Given the description of an element on the screen output the (x, y) to click on. 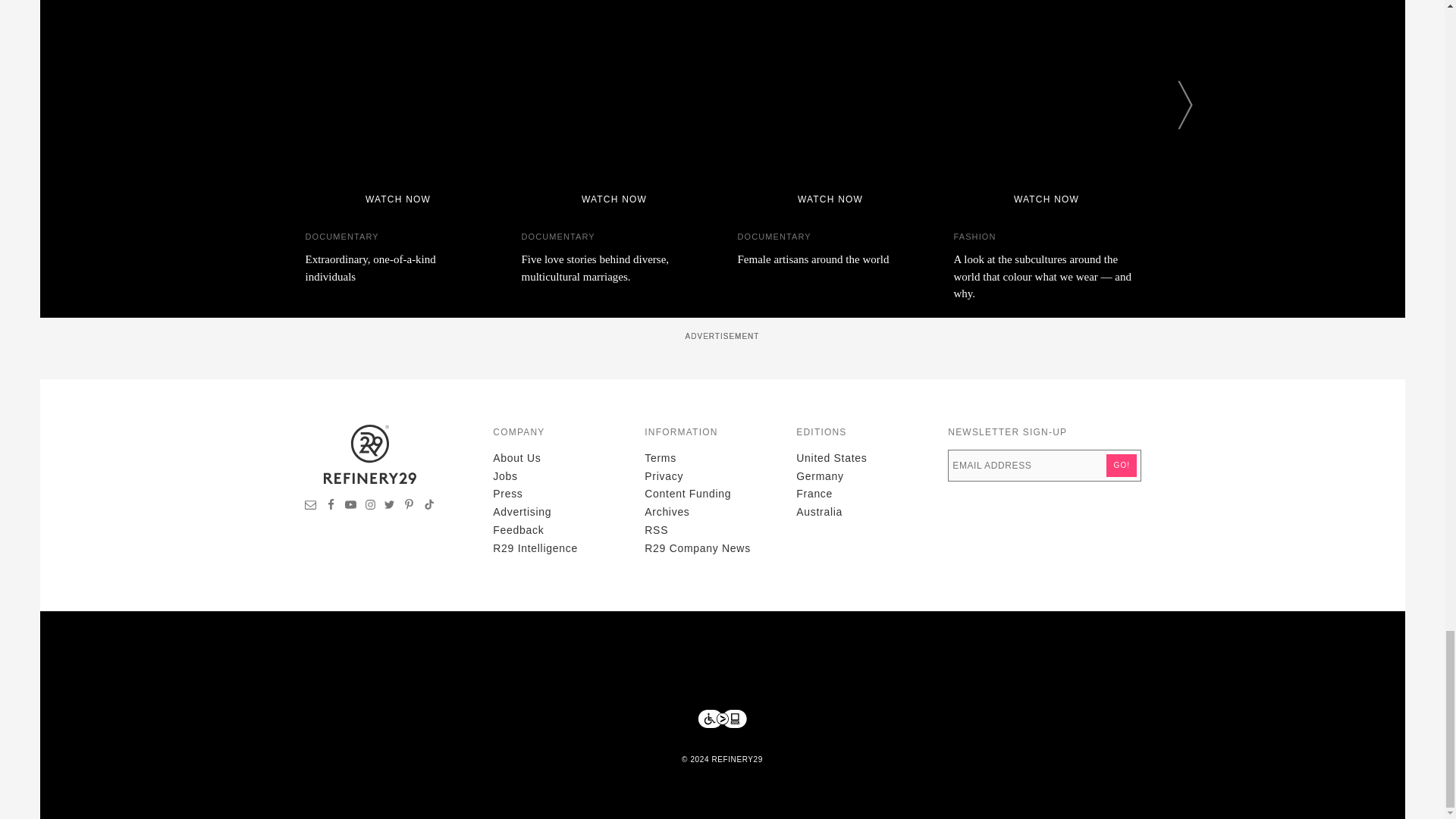
Visit Refinery29 on Pinterest (408, 506)
Visit Refinery29 on YouTube (350, 506)
Visit Refinery29 on Facebook (331, 506)
Visit Refinery29 on Instagram (370, 506)
Next (1184, 104)
Visit Refinery29 on TikTok (428, 506)
Visit Refinery29 on Twitter (389, 506)
Sign up for newsletters (310, 506)
